Given the description of an element on the screen output the (x, y) to click on. 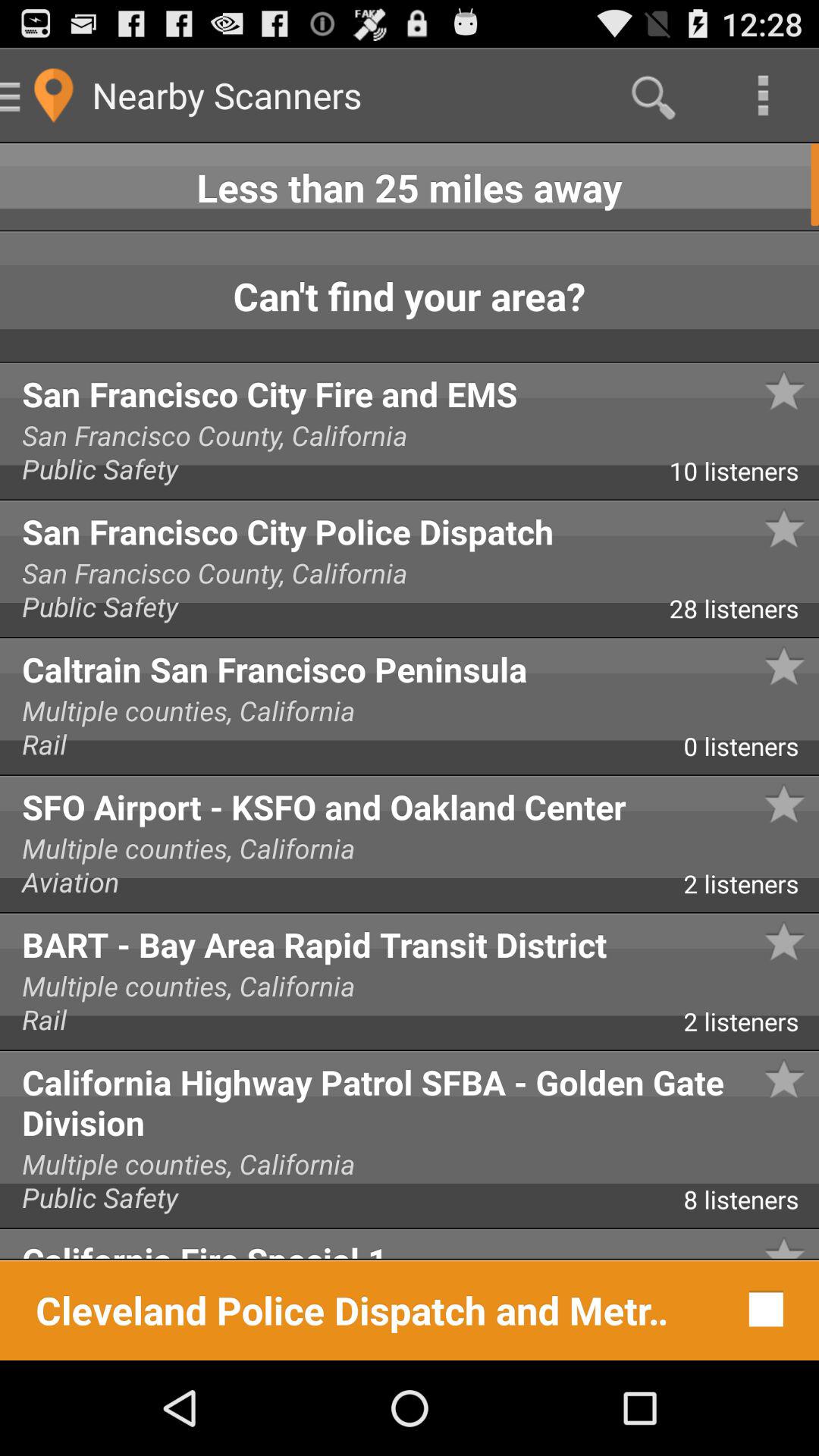
turn off the icon below the 0 listeners (409, 802)
